Given the description of an element on the screen output the (x, y) to click on. 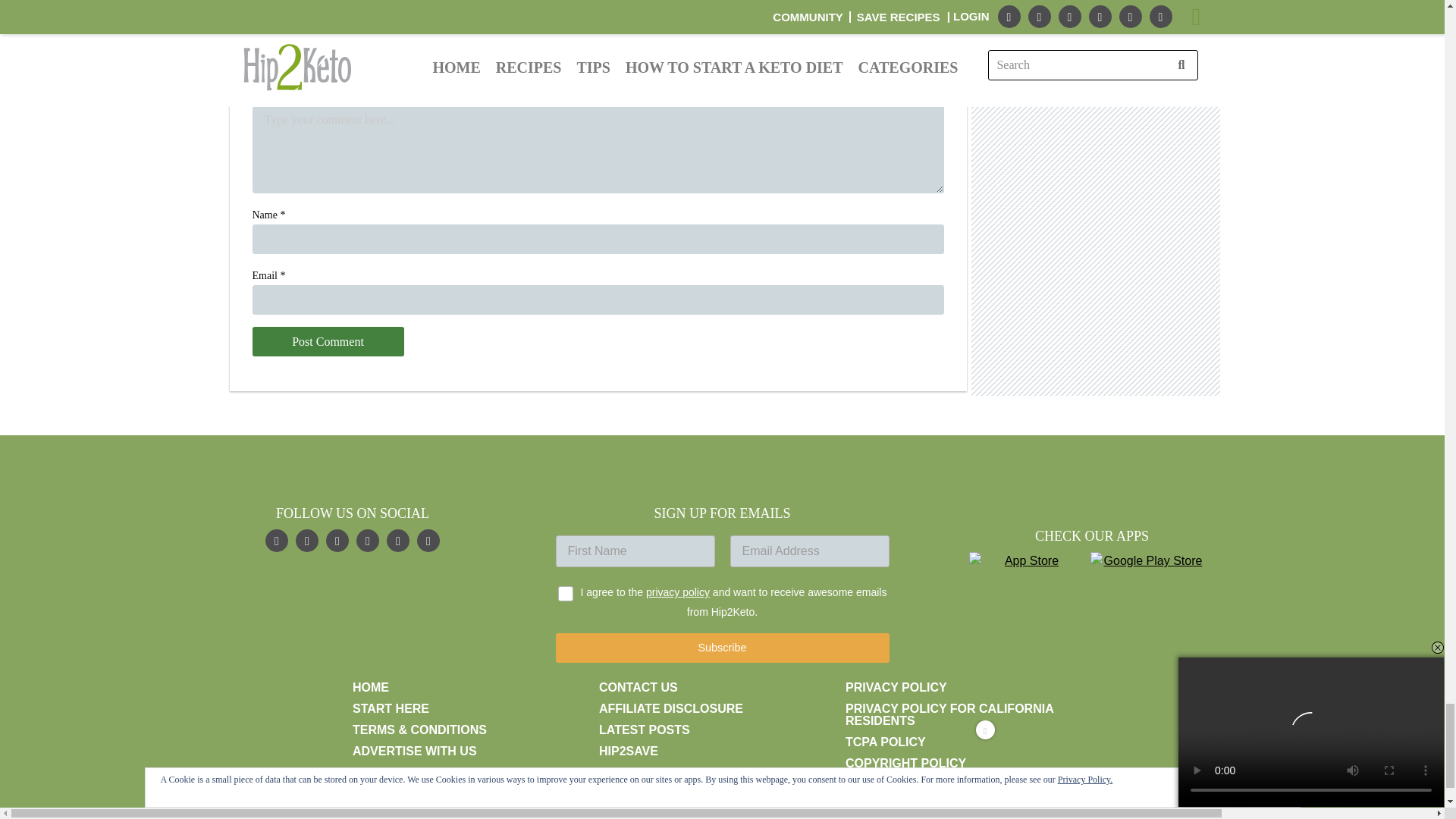
Subscribe (721, 647)
Post Comment (327, 341)
